Given the description of an element on the screen output the (x, y) to click on. 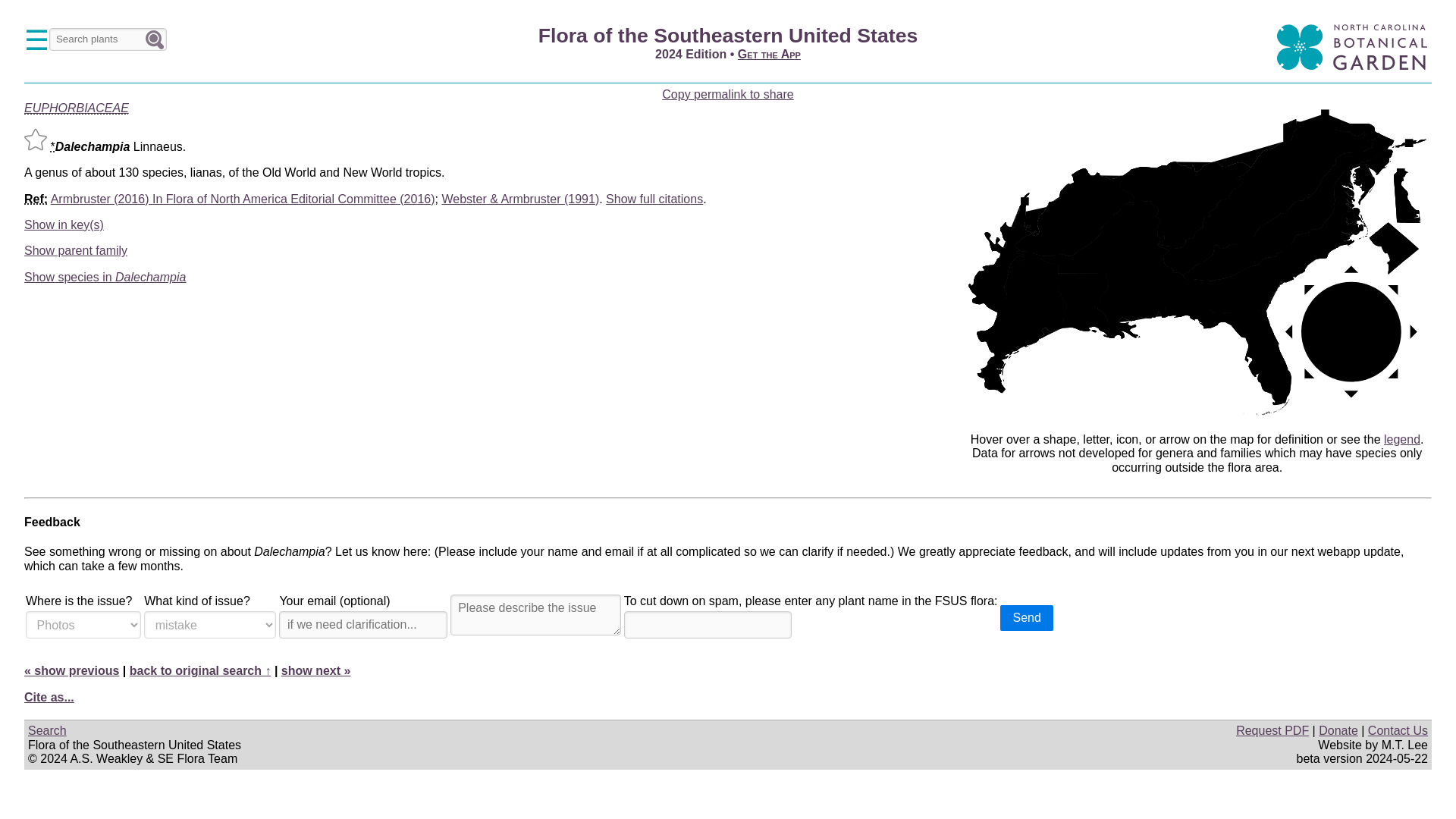
Send (1026, 617)
Show parent family (76, 250)
click here to search for plants (153, 39)
not a favorite (35, 138)
Get the App (769, 53)
Show full citations (654, 198)
Show species in Dalechampia (105, 277)
legend (1402, 439)
Donate (1338, 730)
Request PDF (1272, 730)
EUPHORBIACEAE (76, 107)
Cite as... (49, 697)
Copy permalink to share (727, 93)
Flora of the Southeastern United States (728, 35)
Search (46, 730)
